Given the description of an element on the screen output the (x, y) to click on. 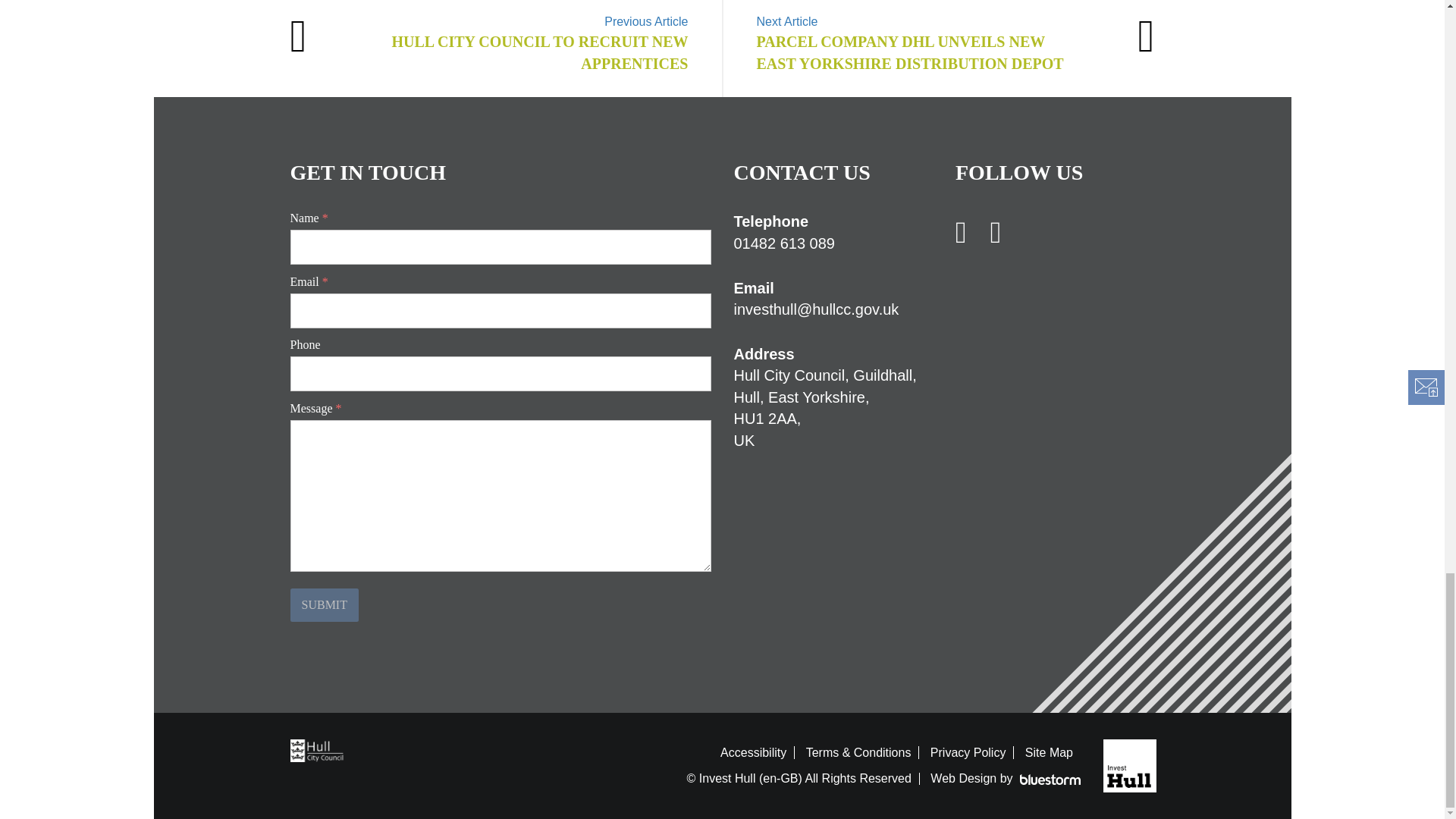
Hull City Council (319, 748)
SUBMIT (323, 604)
